Given the description of an element on the screen output the (x, y) to click on. 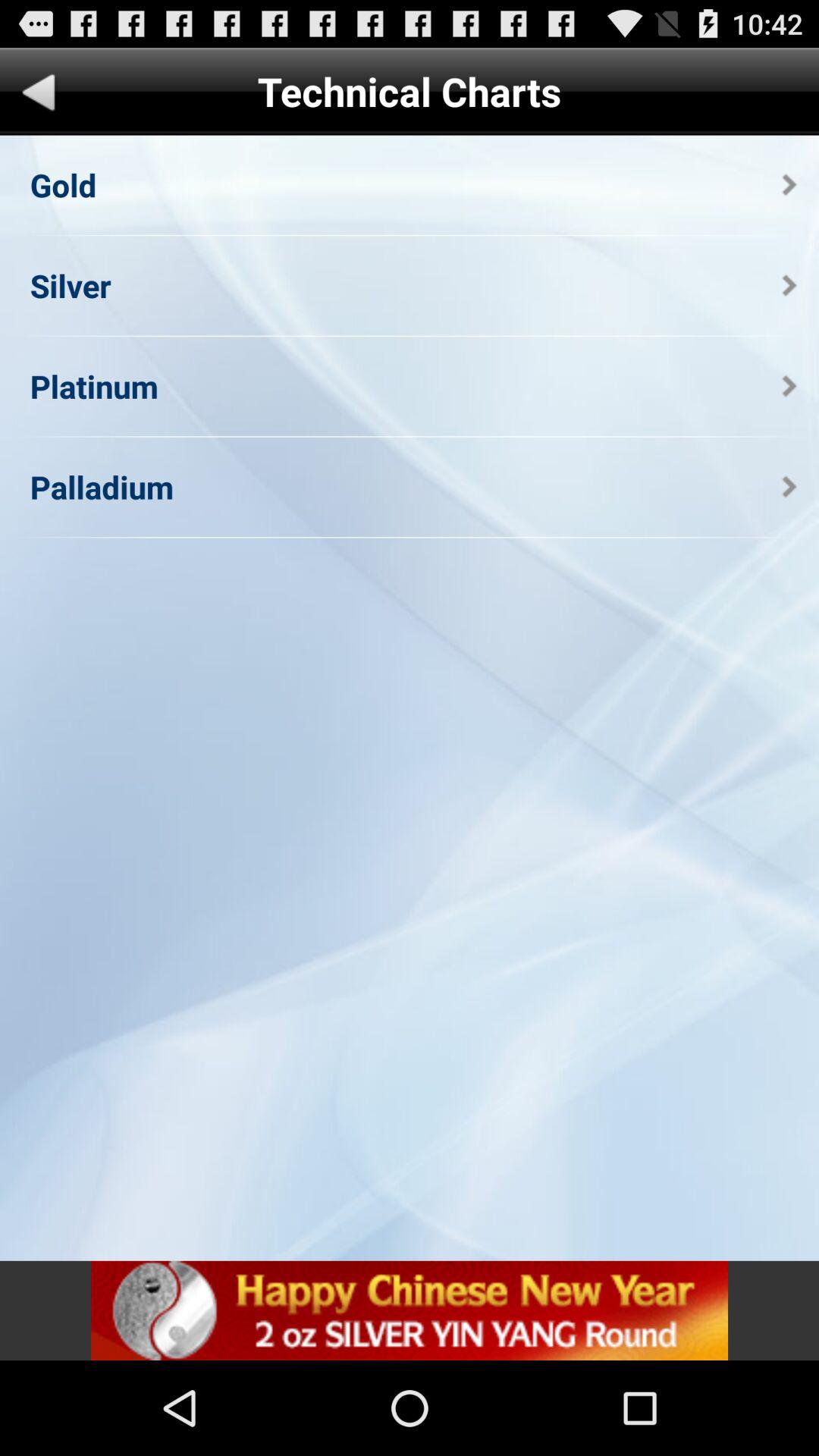
swipe until the palladium (101, 486)
